Given the description of an element on the screen output the (x, y) to click on. 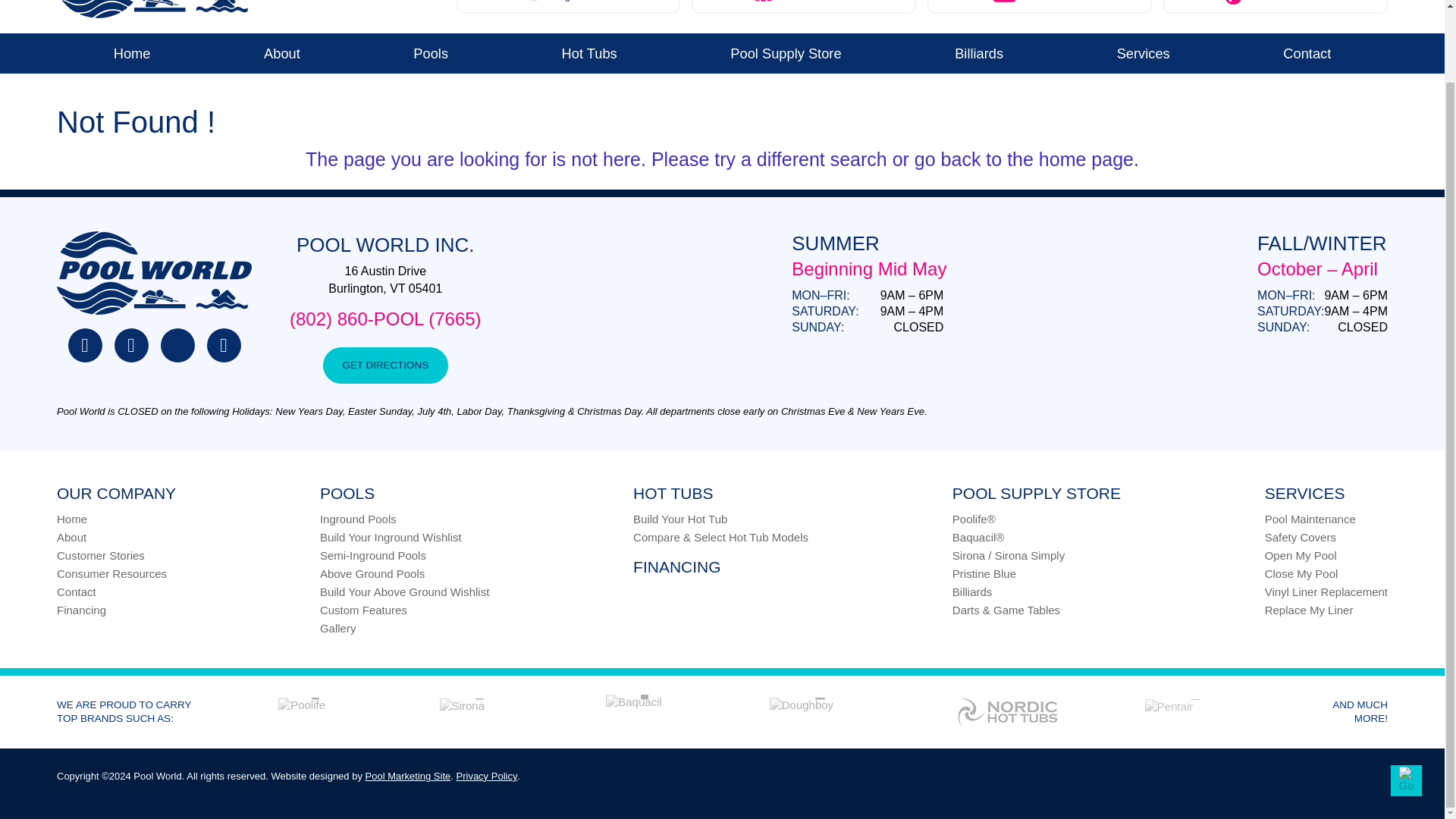
About (281, 53)
Services (1143, 53)
Home (131, 53)
Pool Supply Store (786, 53)
Billiards (978, 53)
icon-monthly-care (1233, 2)
Pools (430, 53)
Hot Tubs (569, 6)
